Given the description of an element on the screen output the (x, y) to click on. 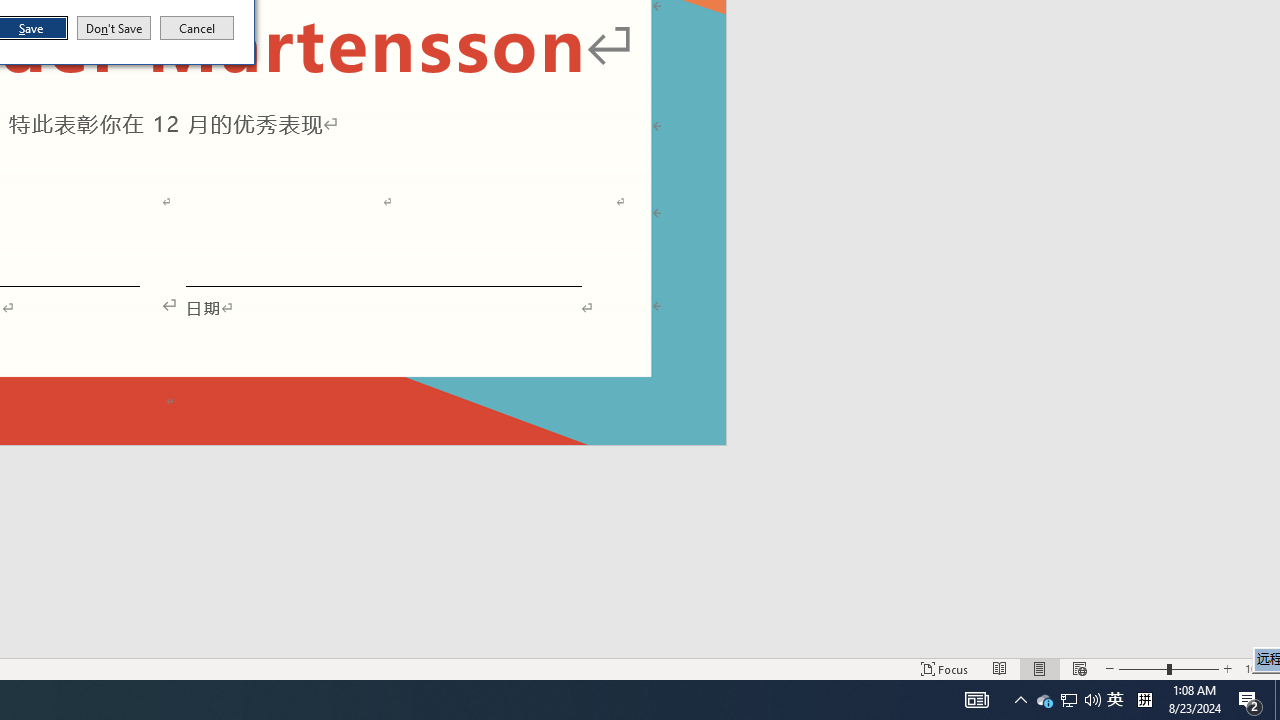
Zoom (1168, 668)
Zoom 100% (1258, 668)
Tray Input Indicator - Chinese (Simplified, China) (1144, 699)
Show desktop (1277, 699)
